Given the description of an element on the screen output the (x, y) to click on. 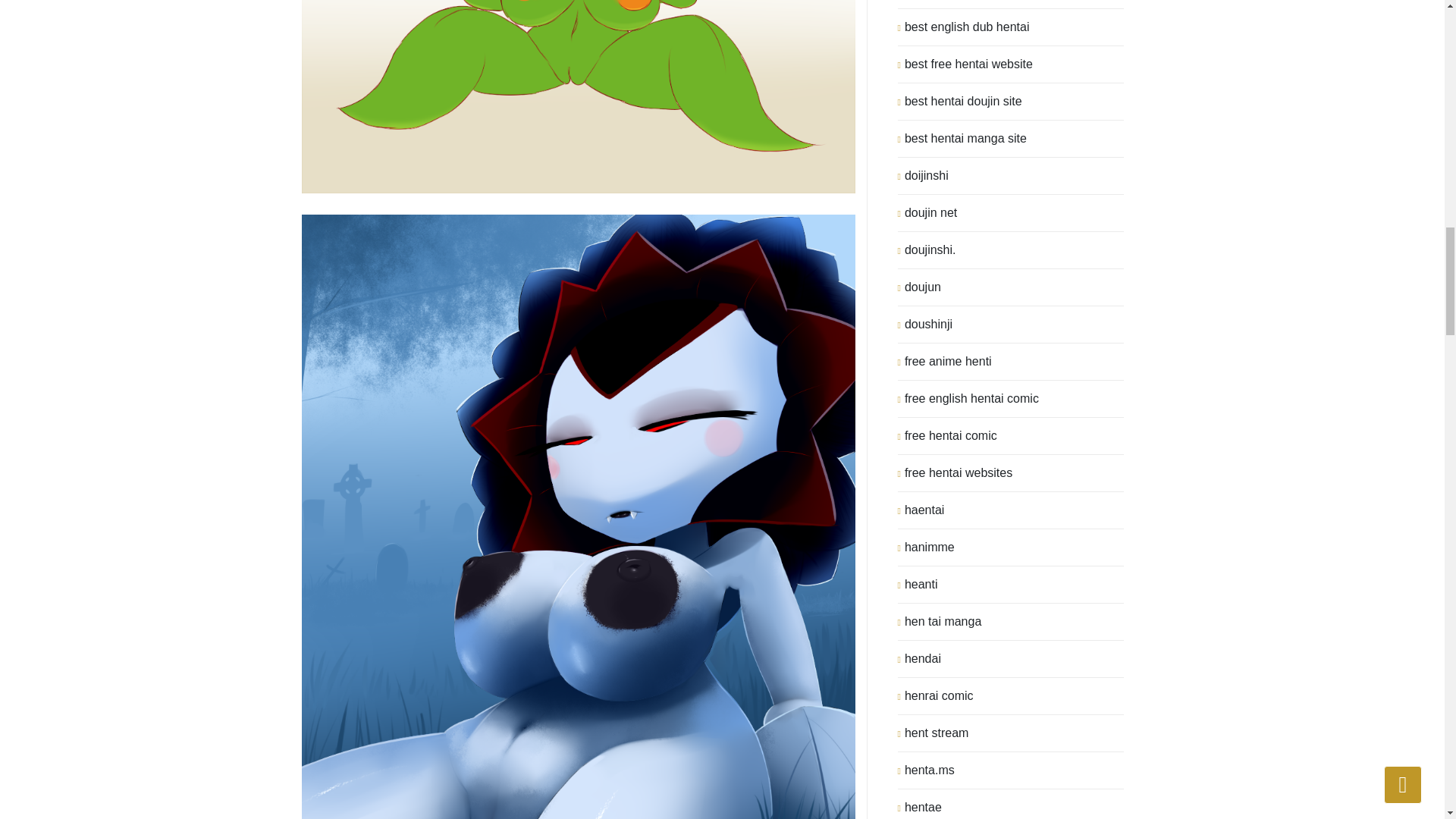
best doujinshi sites (955, 4)
best english dub hentai (966, 27)
